Given the description of an element on the screen output the (x, y) to click on. 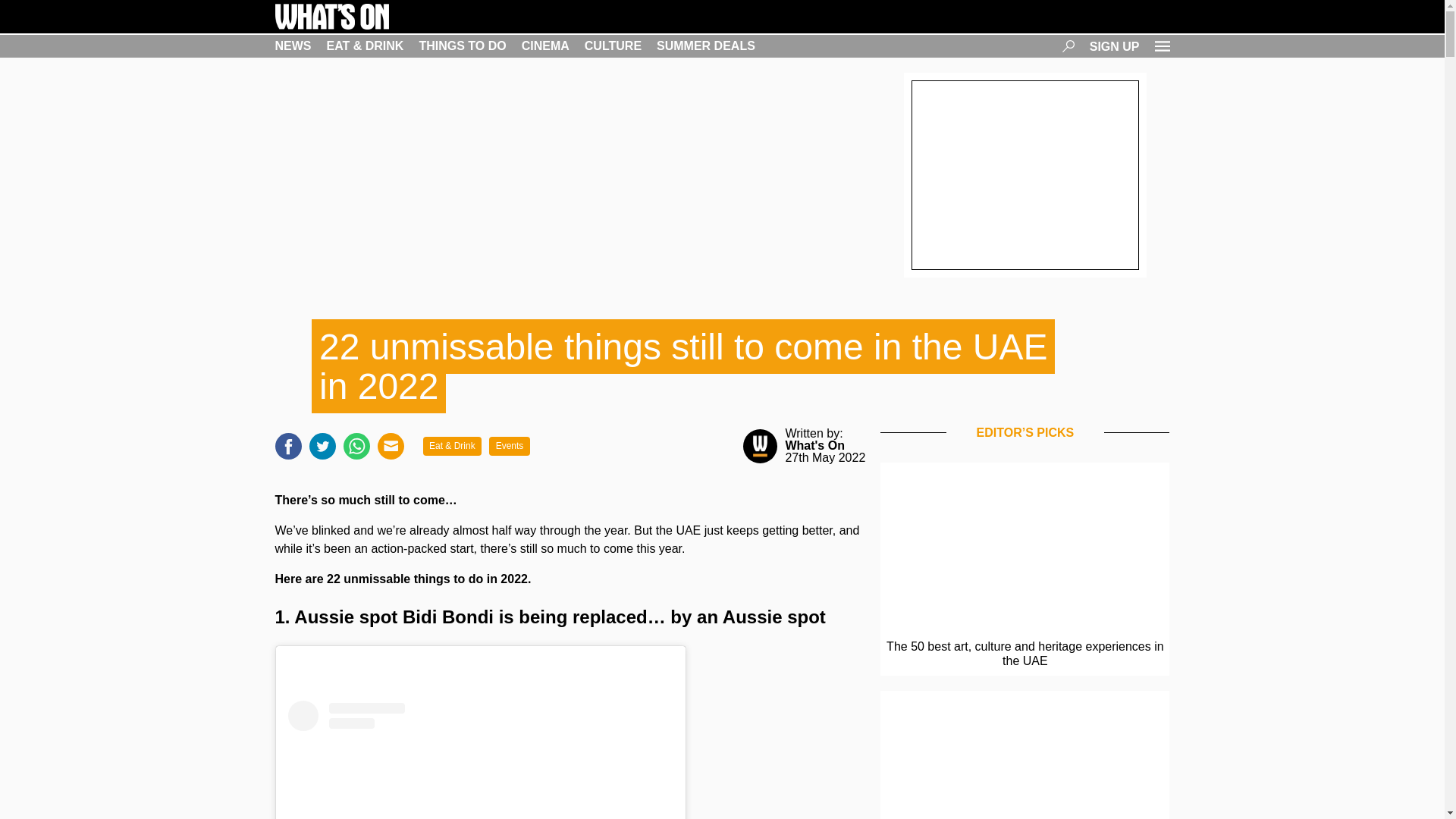
CULTURE (613, 45)
SUMMER DEALS (705, 45)
SIGN UP (1114, 45)
NEWS (293, 45)
THINGS TO DO (462, 45)
CINEMA (545, 45)
